Given the description of an element on the screen output the (x, y) to click on. 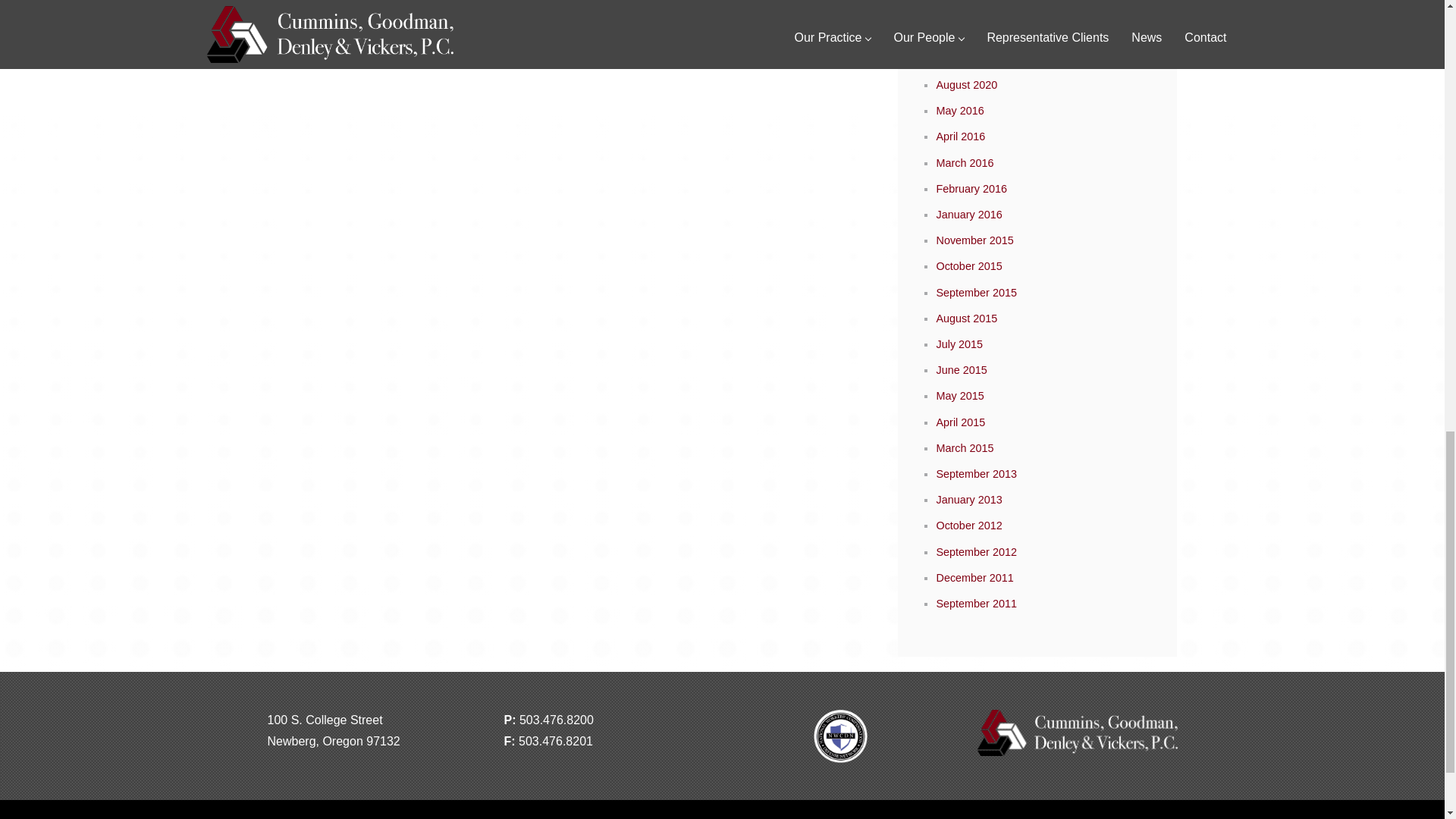
December 2021 (974, 32)
November 2021 (974, 59)
March 2016 (964, 162)
April 2016 (960, 136)
August 2020 (966, 84)
May 2016 (960, 110)
National Workers' Compensation Defense Network (839, 758)
January 2022 (968, 6)
